Given the description of an element on the screen output the (x, y) to click on. 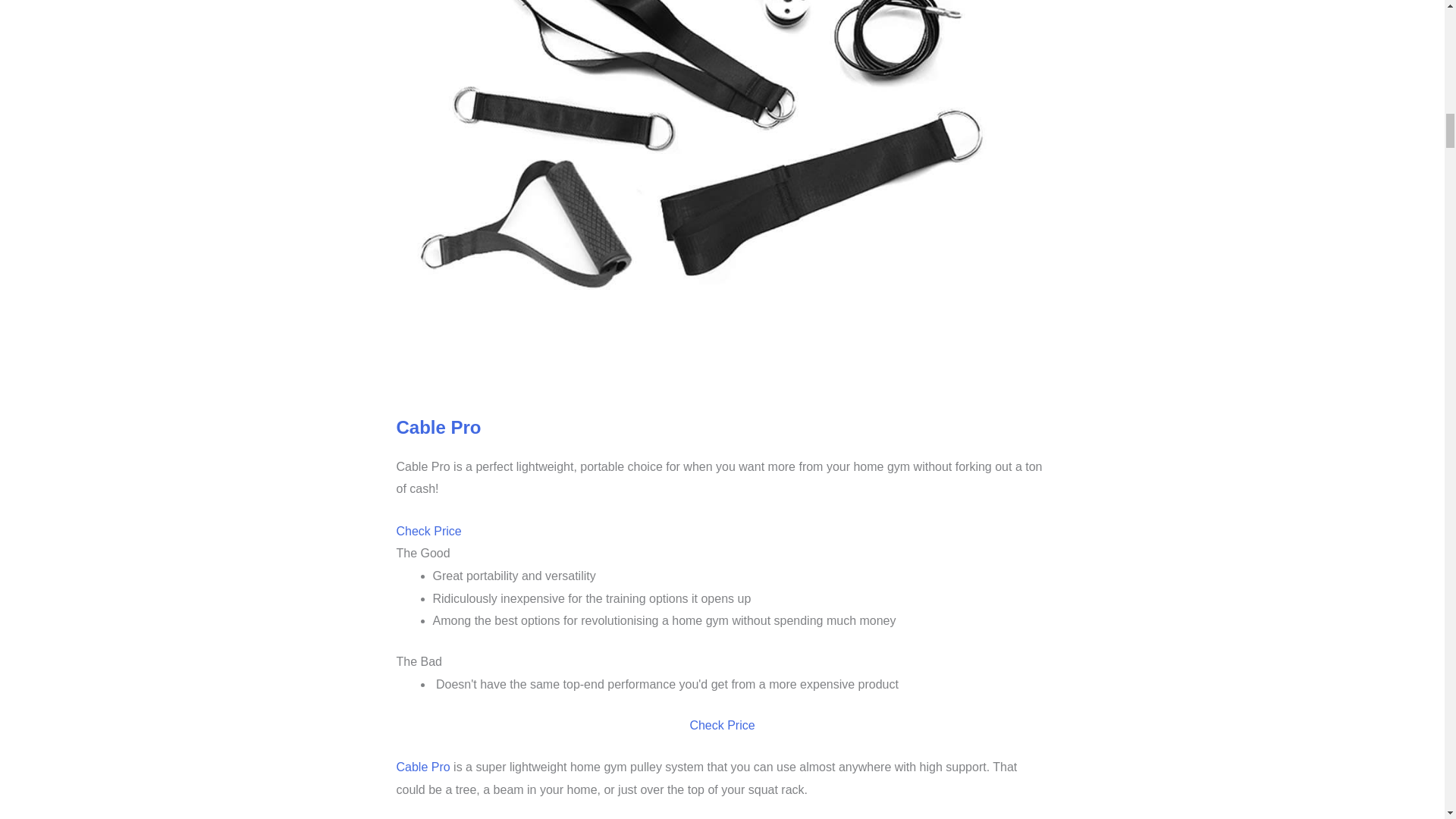
Cable Pro (438, 426)
Check Price (721, 725)
Cable Pro (422, 766)
Check Price (428, 530)
